Given the description of an element on the screen output the (x, y) to click on. 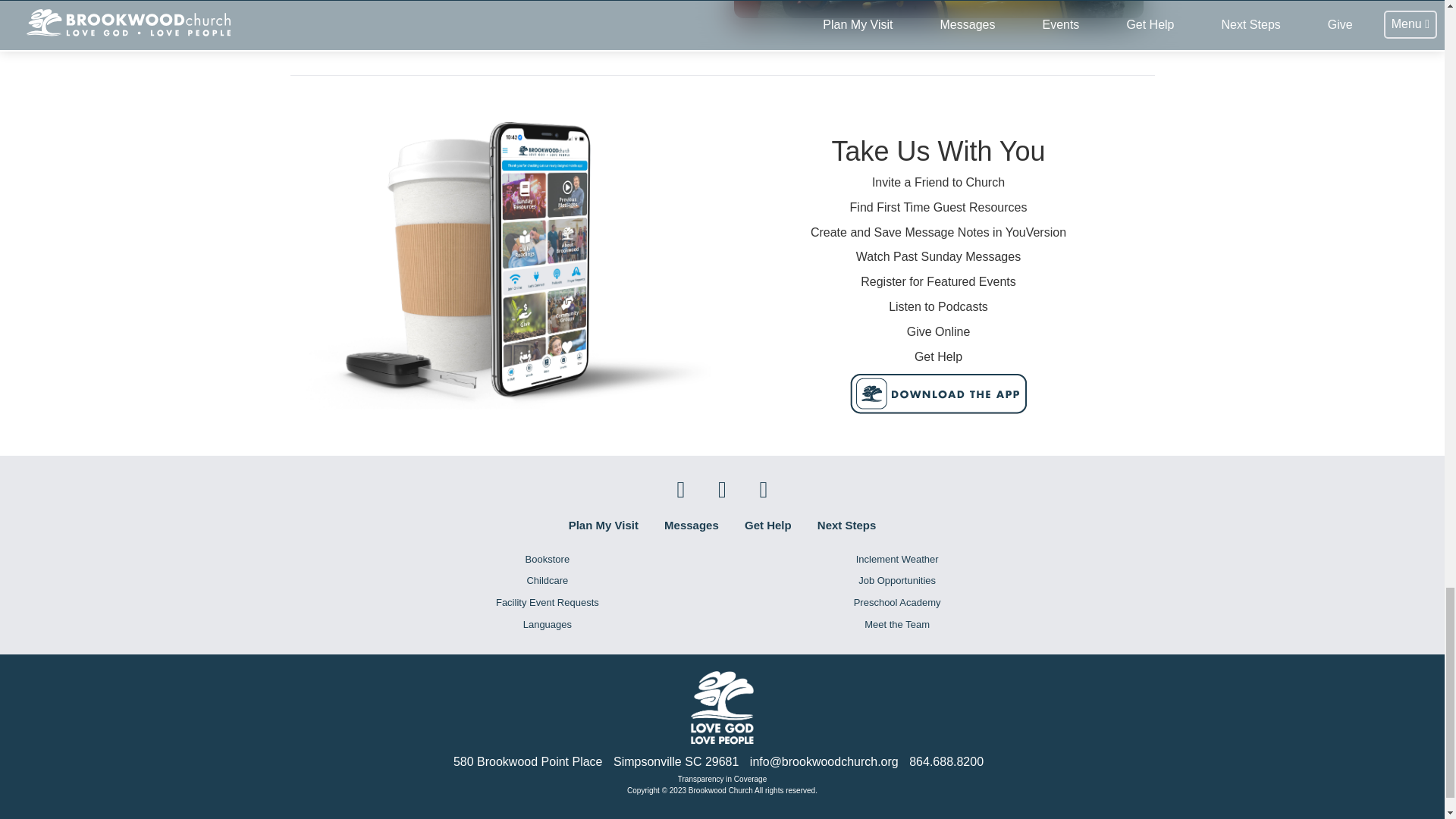
Plan My Visit (604, 524)
Childcare (547, 581)
Get Help (768, 524)
Bookstore (547, 559)
Languages (547, 625)
Messages (691, 524)
Next Steps (846, 524)
Facility Event Requests (547, 603)
